Given the description of an element on the screen output the (x, y) to click on. 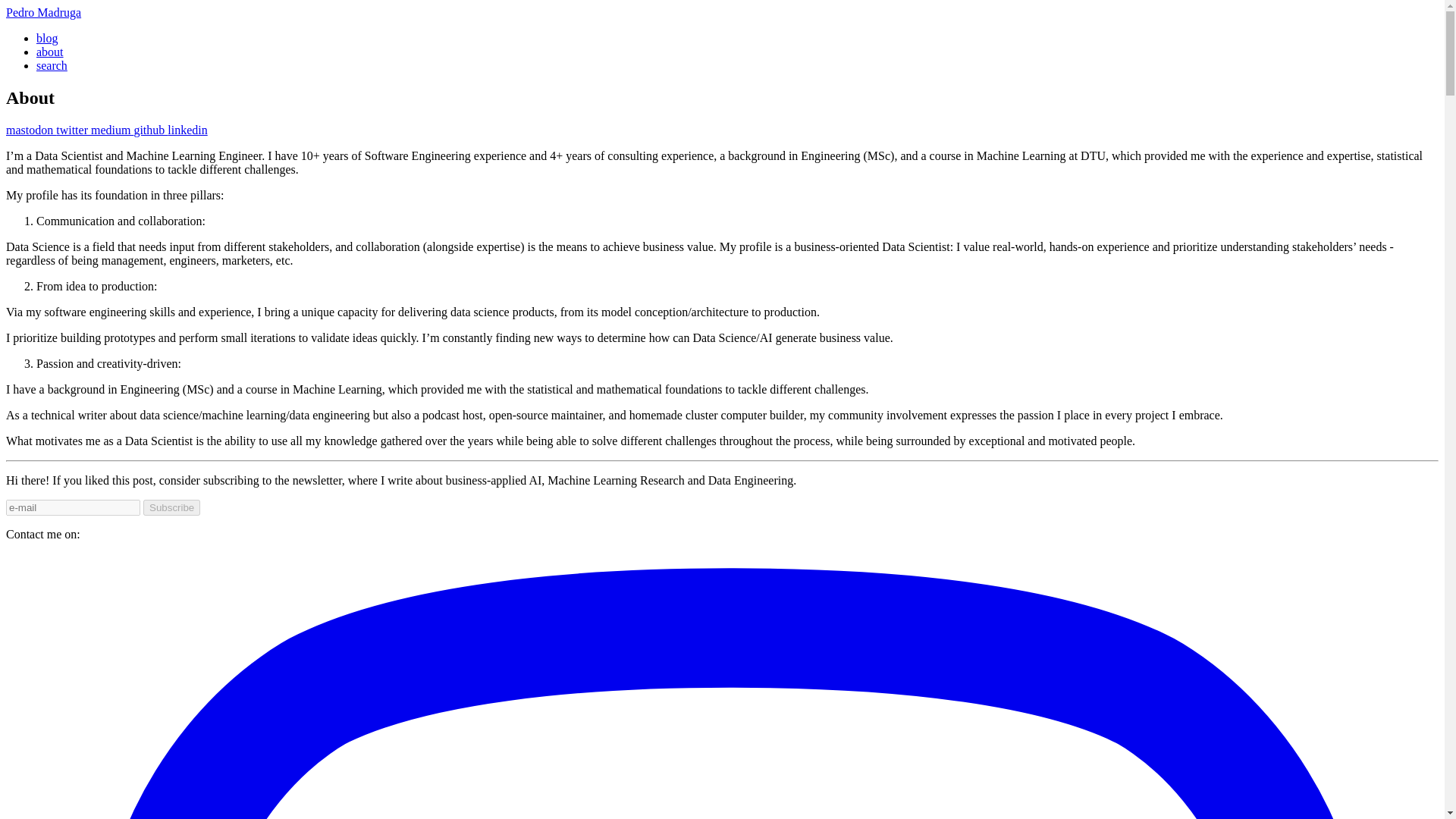
about (50, 51)
Subscribe (171, 507)
github (150, 129)
linkedin (186, 129)
mastodon (30, 129)
blog (47, 38)
medium (111, 129)
blog (47, 38)
Pedro Madruga (43, 11)
Github (150, 129)
